Given the description of an element on the screen output the (x, y) to click on. 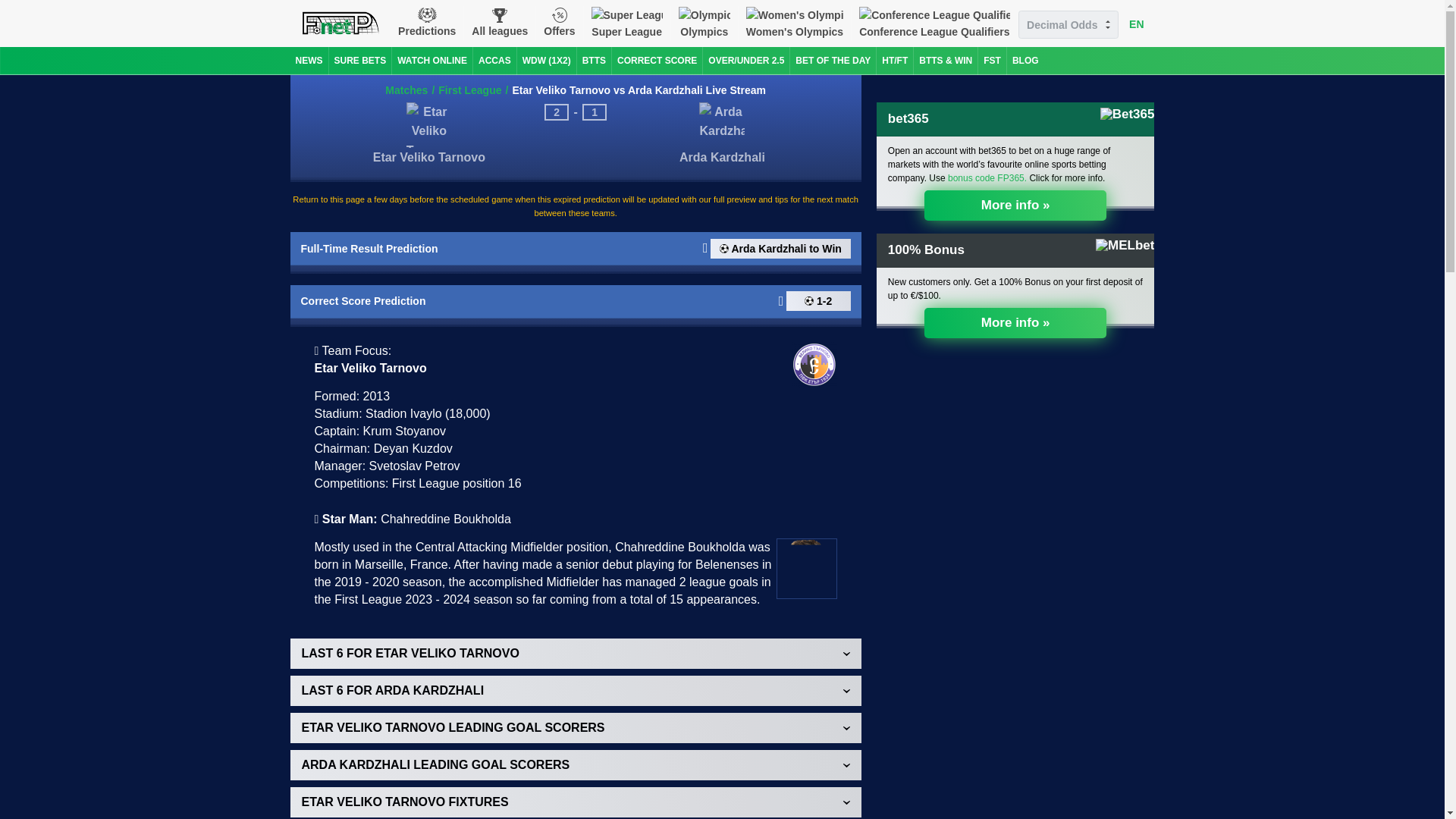
All leagues (499, 22)
Conference League Qualifiers (933, 22)
Women's Olympics (794, 22)
LAST 6 FOR ARDA KARDZHALI (574, 690)
Matches (406, 90)
Olympics (704, 22)
FST (992, 60)
WATCH ONLINE (431, 60)
BTTS (593, 60)
NEWS (308, 60)
